Given the description of an element on the screen output the (x, y) to click on. 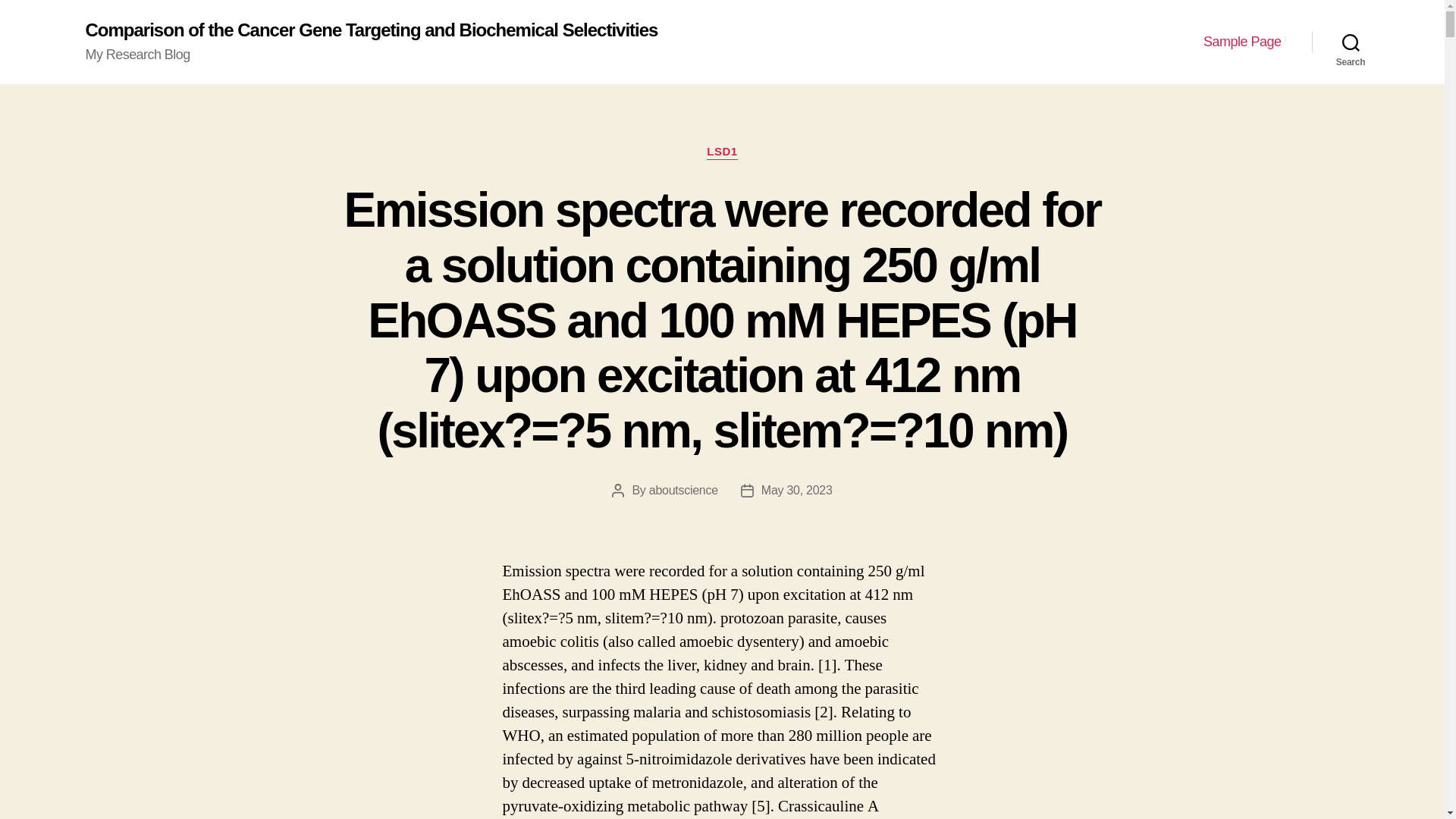
May 30, 2023 (796, 490)
aboutscience (683, 490)
Search (1350, 41)
Sample Page (1242, 42)
LSD1 (722, 151)
